Given the description of an element on the screen output the (x, y) to click on. 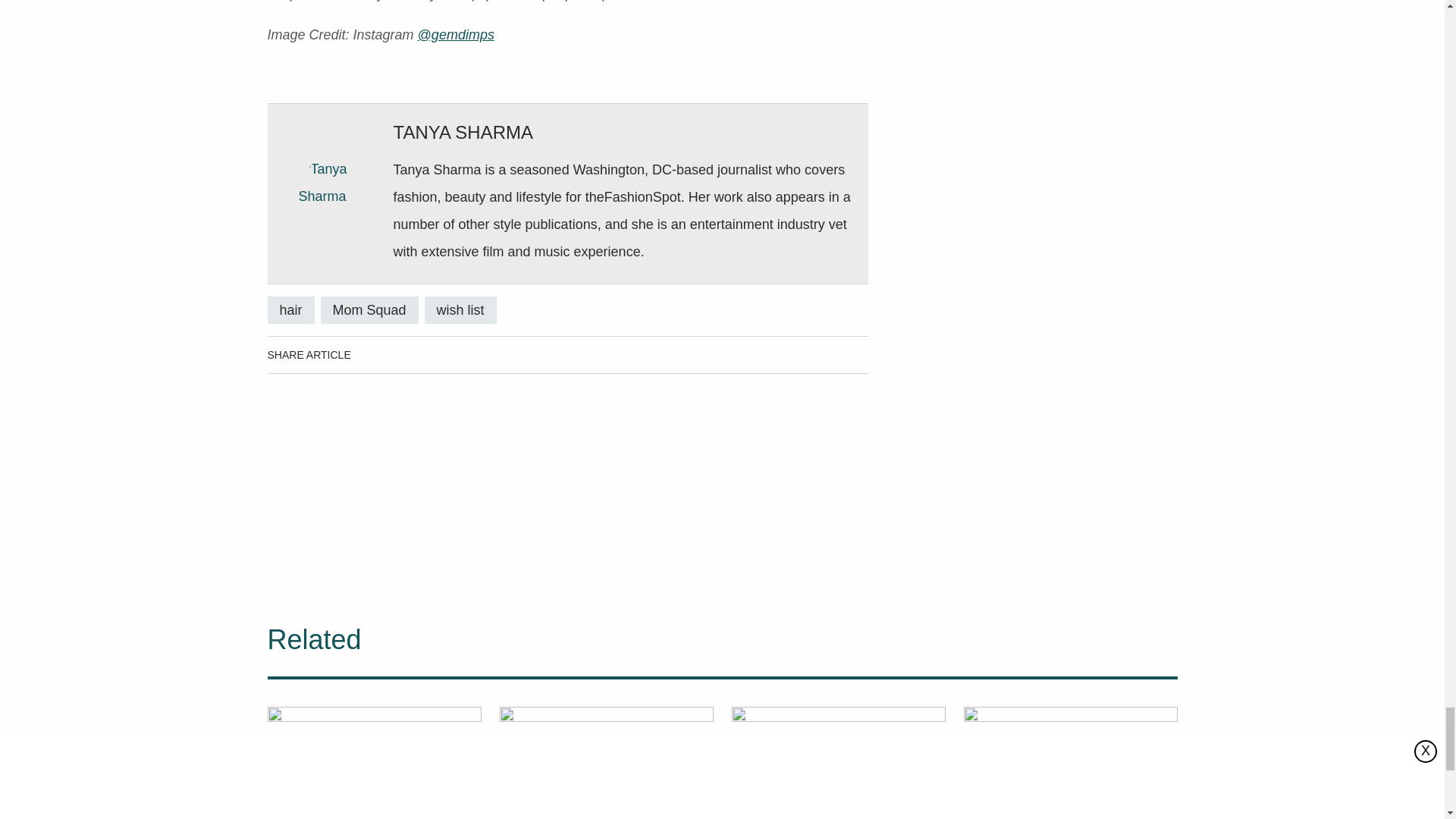
3rd party ad content (566, 480)
9 Best Kids Hairstyle Hacks on YouTube (373, 761)
Easy DIY No-Sew Unicorn Headband for Halloween (606, 761)
